Given the description of an element on the screen output the (x, y) to click on. 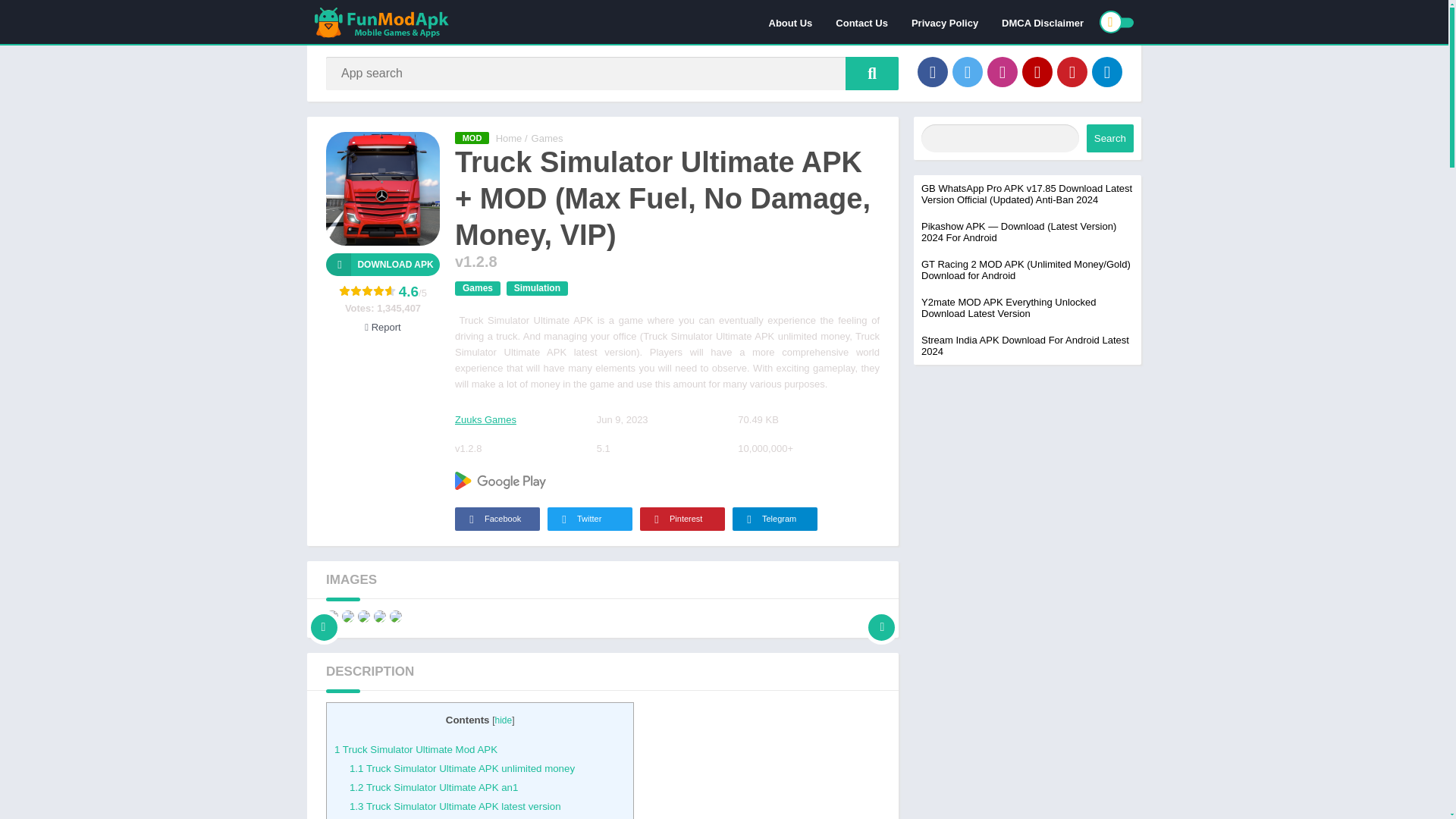
Games (477, 288)
YouTube (1037, 71)
1.1 Truck Simulator Ultimate APK unlimited money (462, 767)
Pinterest (1072, 71)
Simulation (536, 288)
hide (503, 719)
Facebook (497, 518)
Contact Us (861, 22)
FUNMODAPK.COM (509, 138)
Zuuks Games (485, 419)
Instagram (1002, 71)
Home (509, 138)
DMCA Disclaimer (1042, 22)
Next (881, 616)
Games (547, 138)
